Given the description of an element on the screen output the (x, y) to click on. 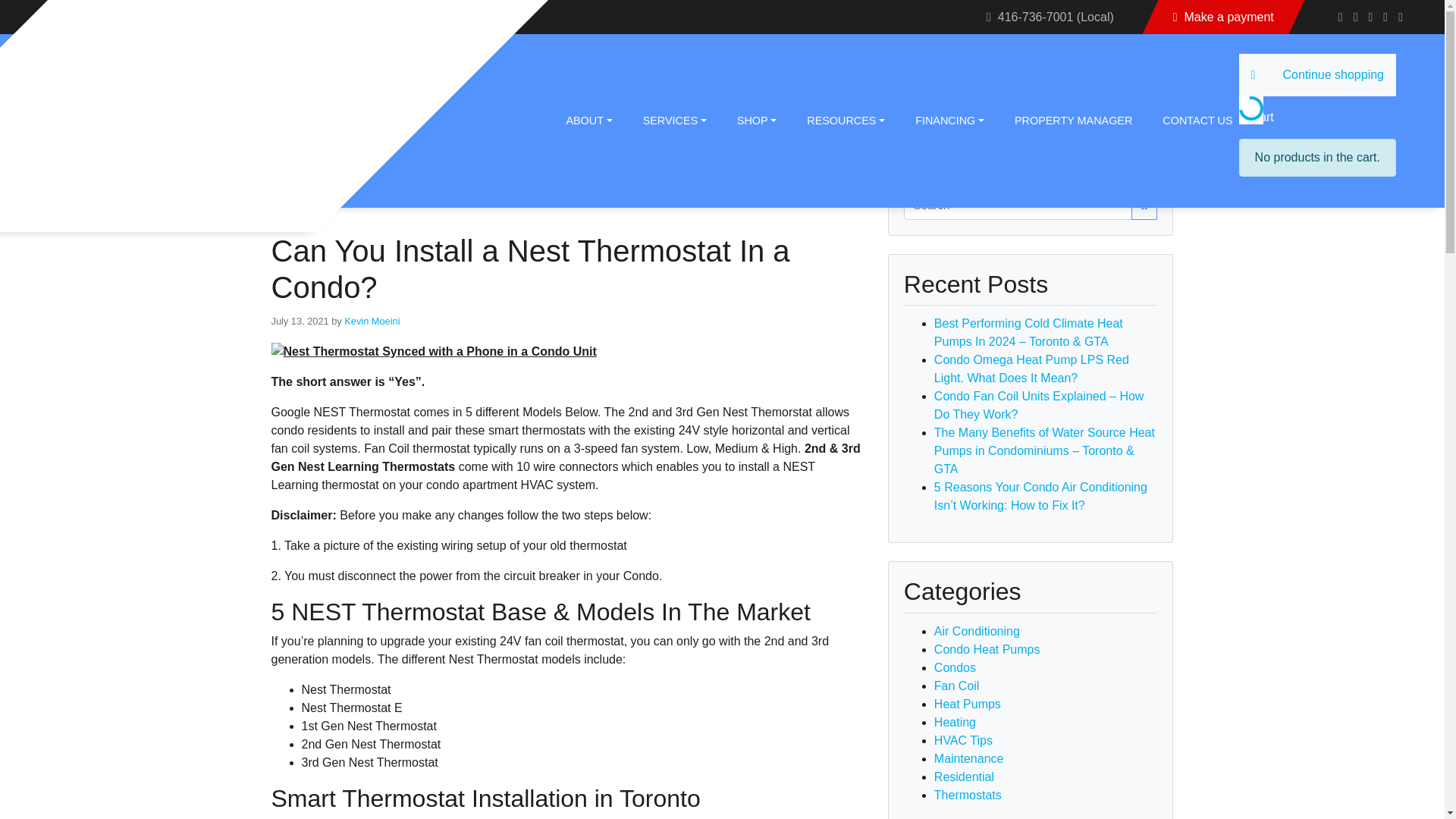
 Make a payment (1223, 16)
Posts by Kevin Moeini (370, 320)
ABOUT (579, 119)
SERVICES (665, 119)
